Given the description of an element on the screen output the (x, y) to click on. 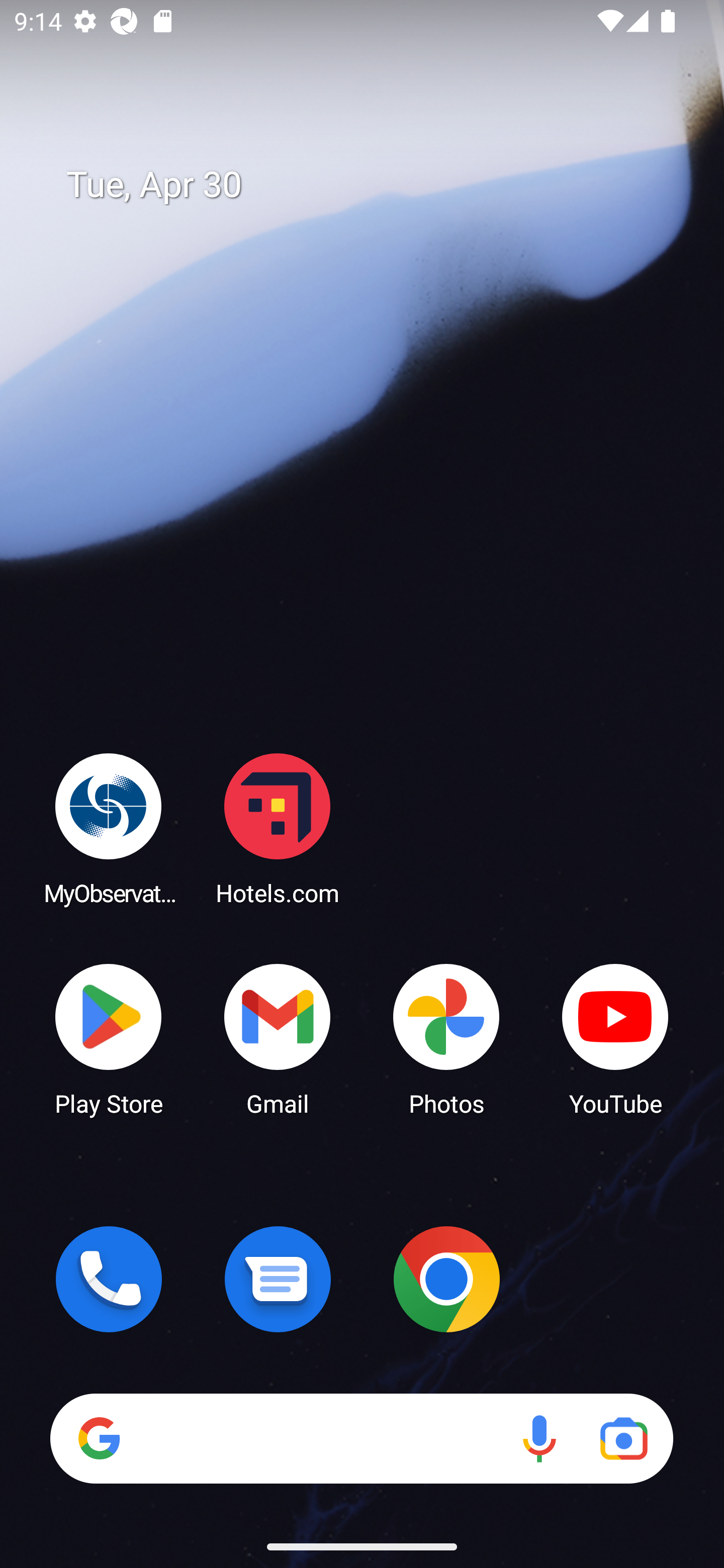
Tue, Apr 30 (375, 184)
MyObservatory (108, 828)
Hotels.com (277, 828)
Play Store (108, 1038)
Gmail (277, 1038)
Photos (445, 1038)
YouTube (615, 1038)
Phone (108, 1279)
Messages (277, 1279)
Chrome (446, 1279)
Voice search (539, 1438)
Google Lens (623, 1438)
